Given the description of an element on the screen output the (x, y) to click on. 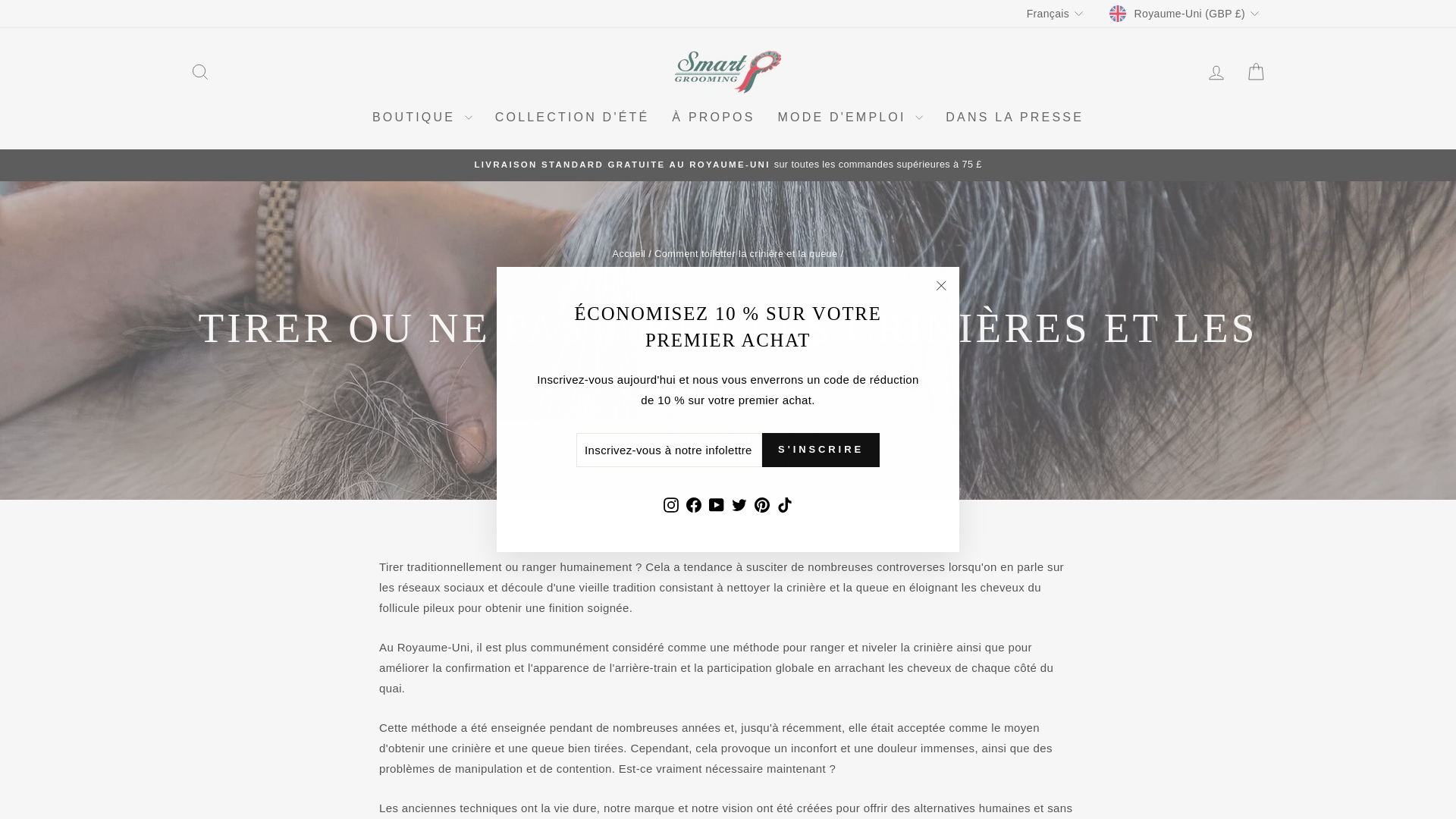
ICON-SEARCH (200, 71)
ACCOUNT (1216, 72)
icon-X (941, 285)
